Given the description of an element on the screen output the (x, y) to click on. 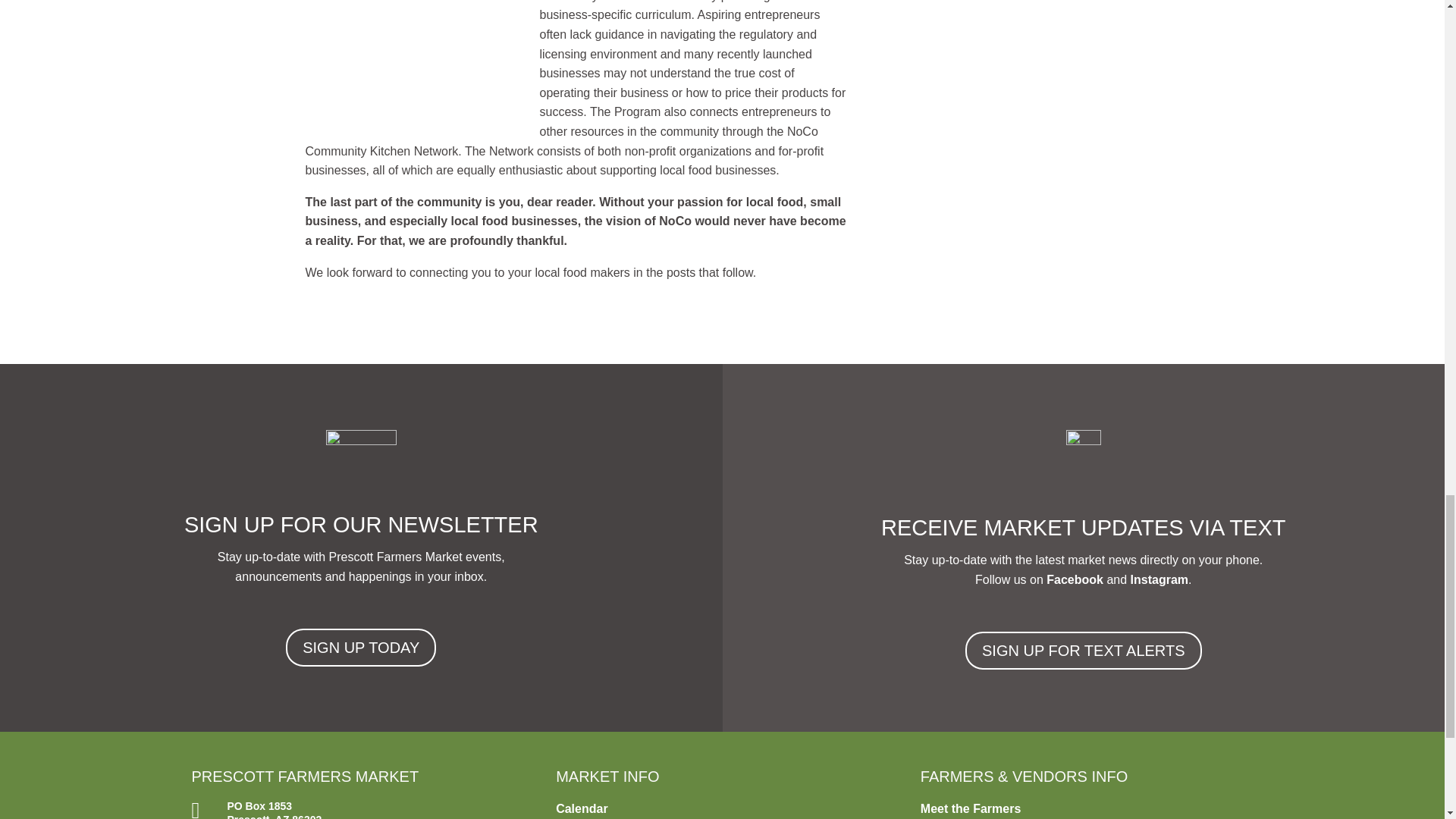
PFM-icon-mail (361, 458)
PFM-phone-icon (1082, 462)
